Given the description of an element on the screen output the (x, y) to click on. 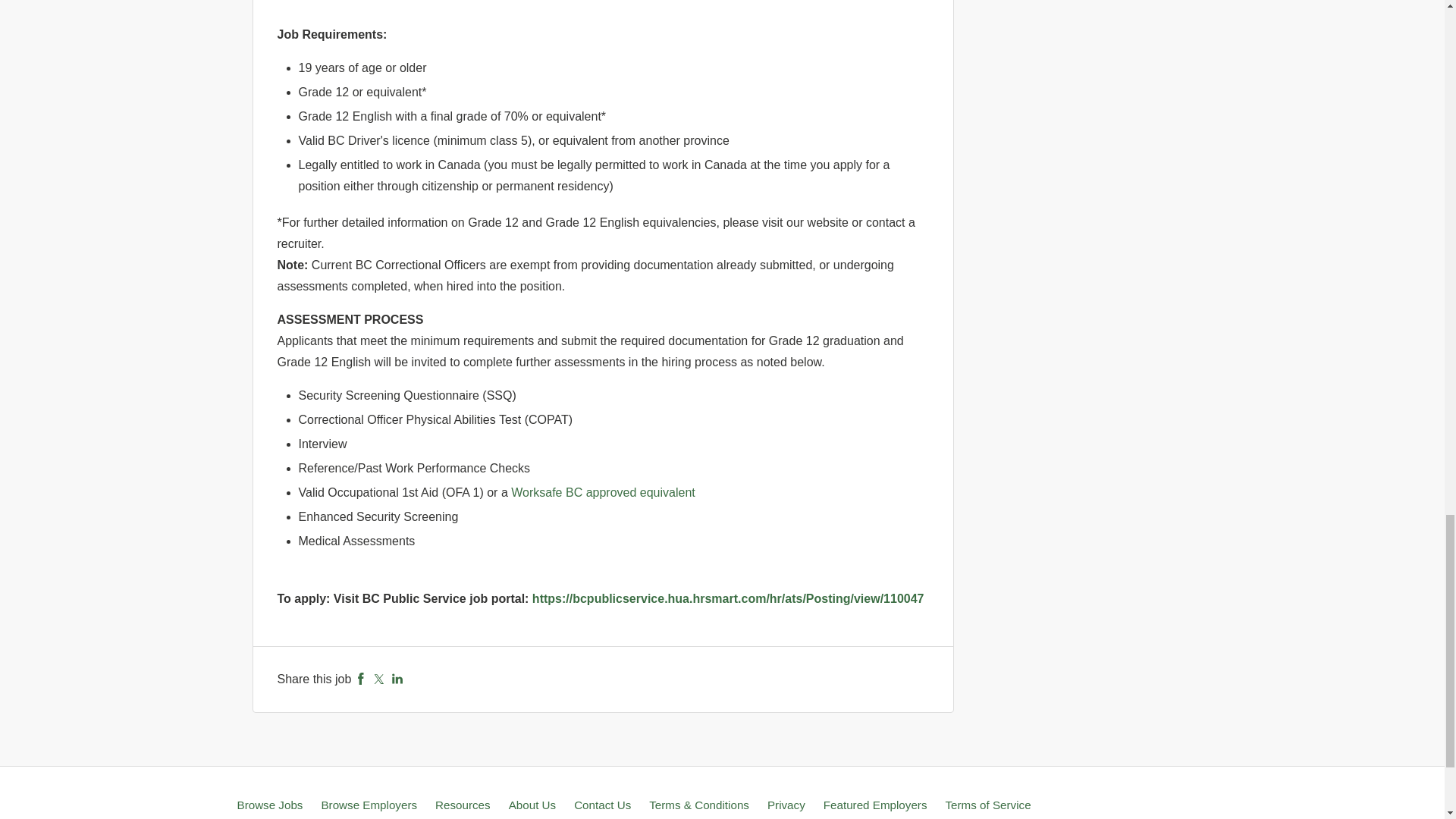
LinkedIn (397, 678)
Browse Jobs (268, 804)
Twitter (378, 678)
Facebook (360, 678)
Worksafe BC approved equivalent (603, 492)
